Given the description of an element on the screen output the (x, y) to click on. 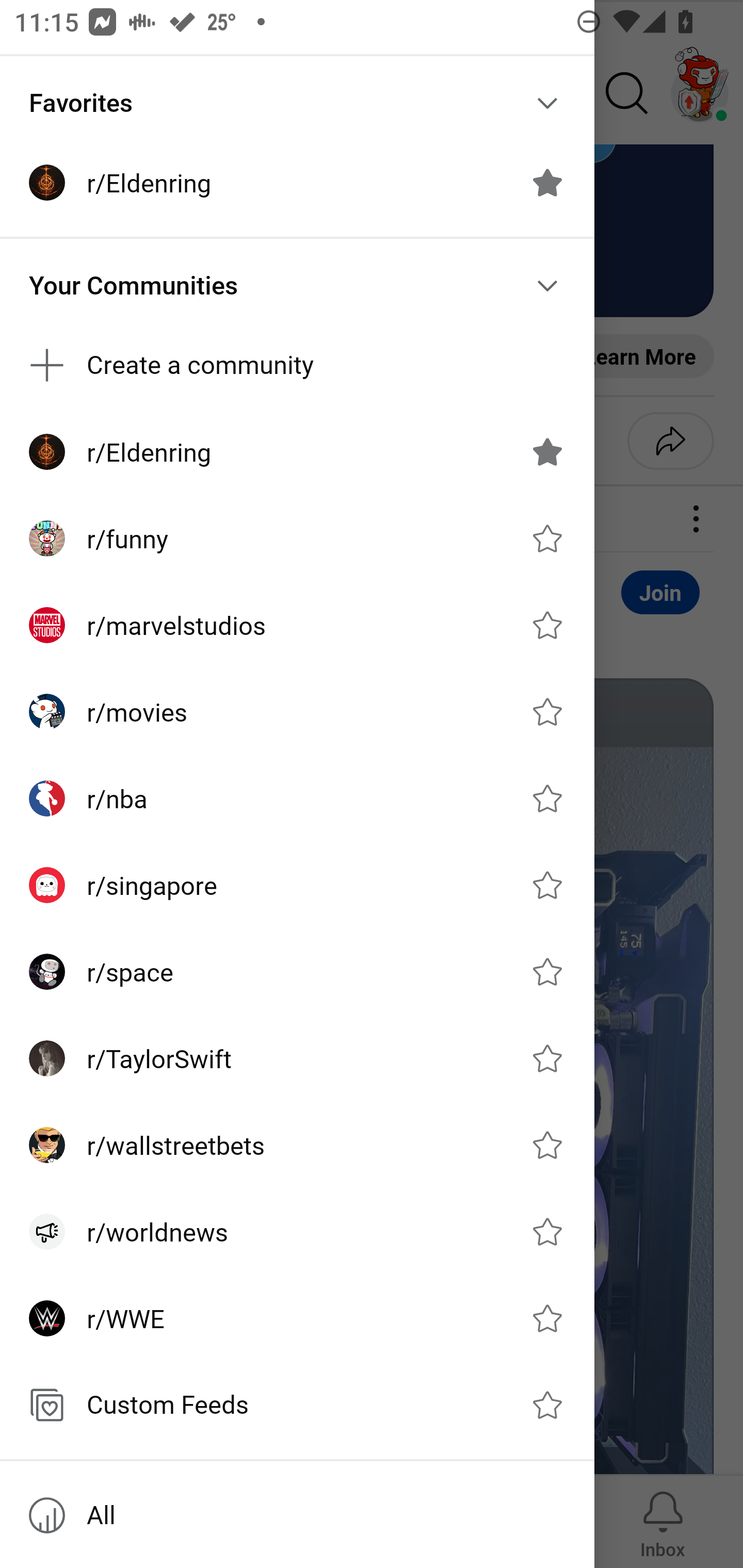
Favorites (297, 103)
r/Eldenring Unfavorite r/Eldenring (297, 182)
Unfavorite r/Eldenring (546, 182)
Your Communities (297, 285)
Create a community (297, 365)
r/Eldenring Unfavorite r/Eldenring (297, 452)
Unfavorite r/Eldenring (546, 451)
r/funny Favorite r/funny (297, 538)
Favorite r/funny (546, 538)
r/marvelstudios Favorite r/marvelstudios (297, 624)
Favorite r/marvelstudios (546, 624)
r/movies Favorite r/movies (297, 711)
Favorite r/movies (546, 711)
r/nba Favorite r/nba (297, 798)
Favorite r/nba (546, 798)
r/singapore Favorite r/singapore (297, 885)
Favorite r/singapore (546, 885)
r/space Favorite r/space (297, 971)
Favorite r/space (546, 971)
r/TaylorSwift Favorite r/TaylorSwift (297, 1058)
Favorite r/TaylorSwift (546, 1058)
r/wallstreetbets Favorite r/wallstreetbets (297, 1145)
Favorite r/wallstreetbets (546, 1145)
r/worldnews Favorite r/worldnews (297, 1231)
Favorite r/worldnews (546, 1231)
r/WWE Favorite r/WWE (297, 1317)
Favorite r/WWE (546, 1317)
Custom Feeds (297, 1404)
All (297, 1515)
